Given the description of an element on the screen output the (x, y) to click on. 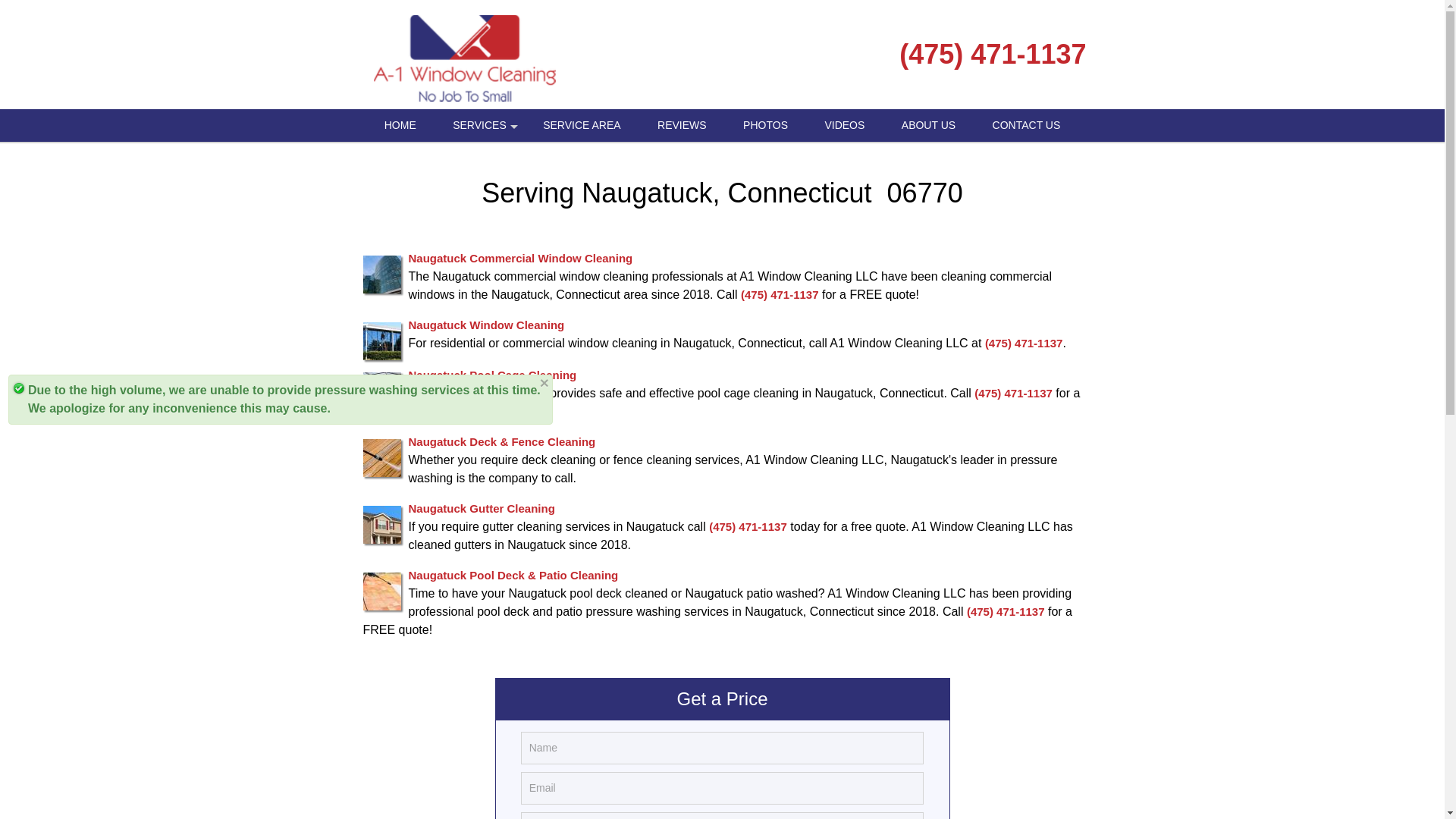
VIDEOS (844, 124)
HOME (400, 124)
PHOTOS (765, 124)
Naugatuck Window Cleaning (485, 324)
Naugatuck Commercial Window Cleaning (519, 257)
Naugatuck Gutter Cleaning (480, 508)
CONTACT US (1026, 124)
Naugatuck Pool Cage Cleaning (491, 374)
REVIEWS (681, 124)
ABOUT US (928, 124)
SERVICE AREA (581, 124)
